Given the description of an element on the screen output the (x, y) to click on. 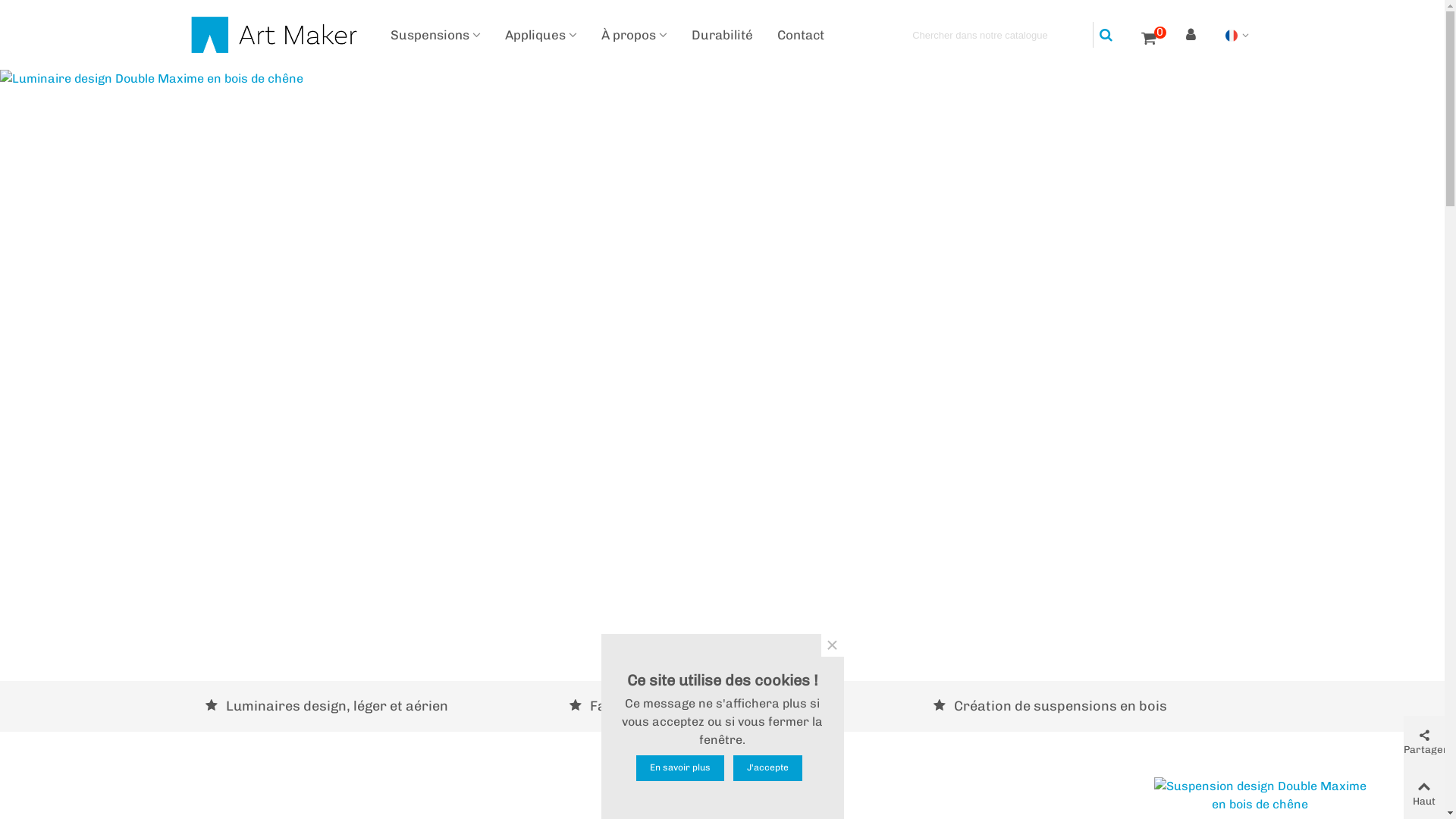
Suspensions Element type: text (434, 34)
Contact Element type: text (799, 34)
J'accepte Element type: text (767, 768)
En savoir plus Element type: text (680, 768)
Fabrication artisanale en Belgique Element type: text (732, 706)
Appliques Element type: text (540, 34)
Connectez-vous au compte de votre client Element type: hover (1192, 34)
Partager Element type: text (1423, 741)
Art Maker Element type: hover (274, 34)
0 Element type: text (1148, 34)
